Given the description of an element on the screen output the (x, y) to click on. 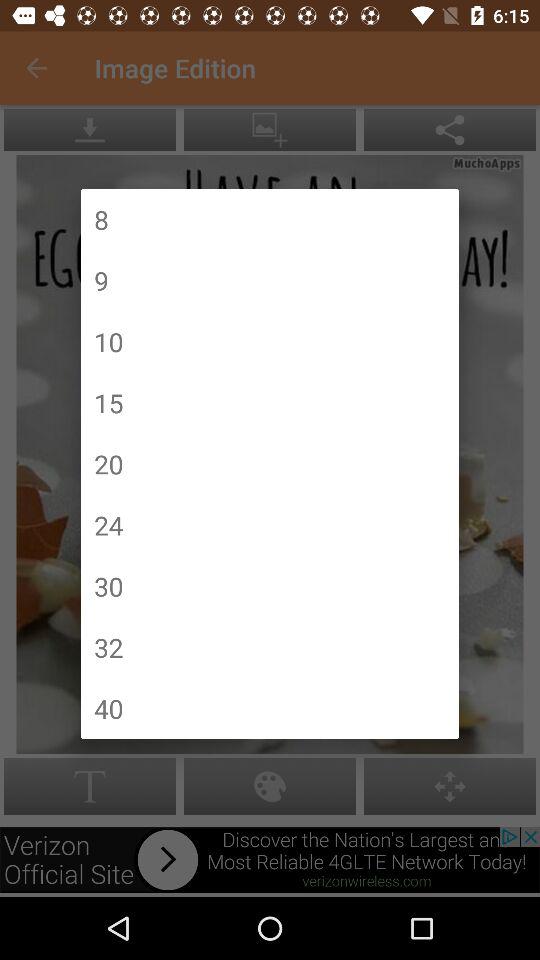
tap icon above the 20 icon (108, 402)
